Given the description of an element on the screen output the (x, y) to click on. 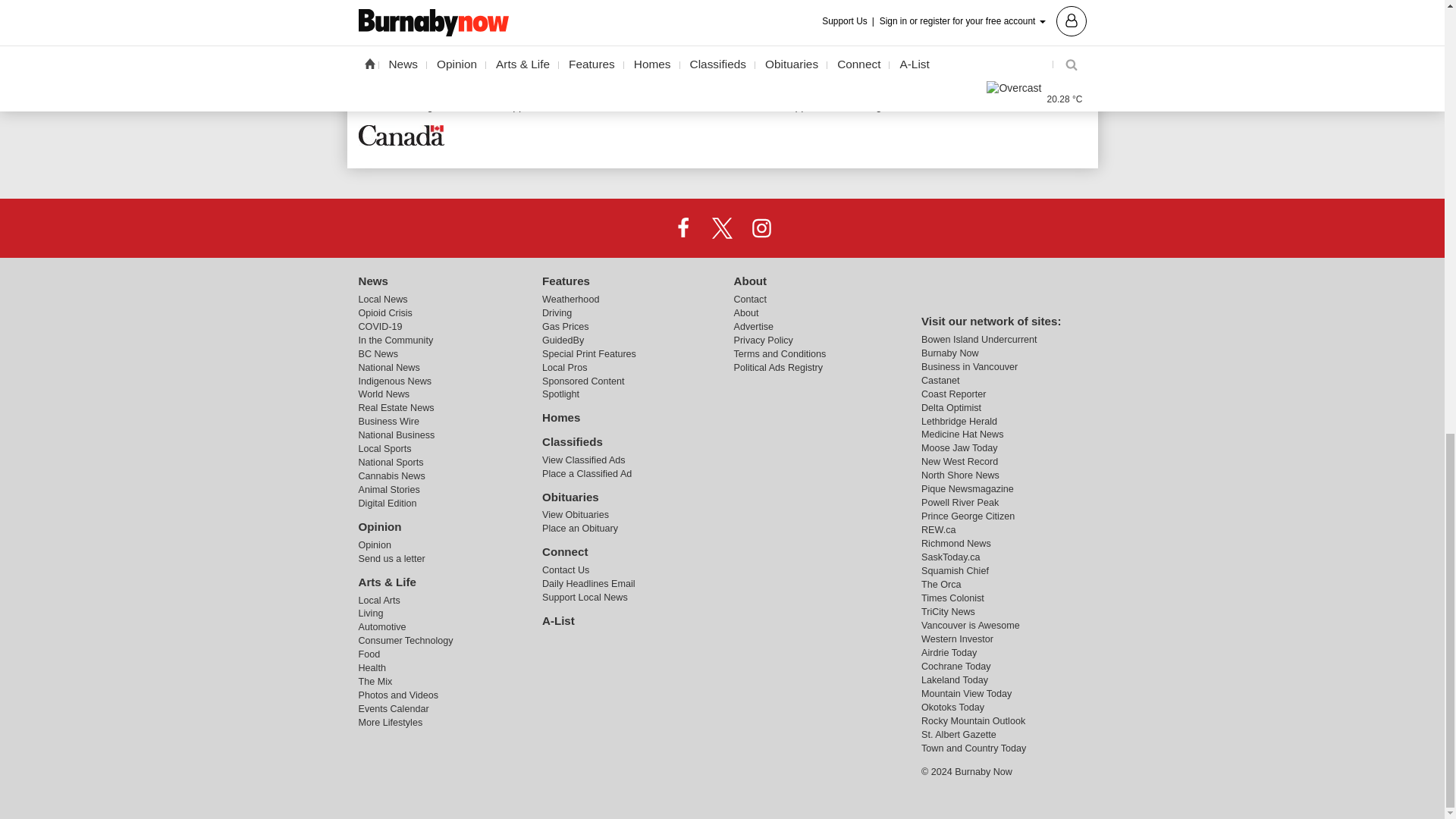
Instagram (760, 226)
Facebook (683, 226)
X (721, 226)
